Given the description of an element on the screen output the (x, y) to click on. 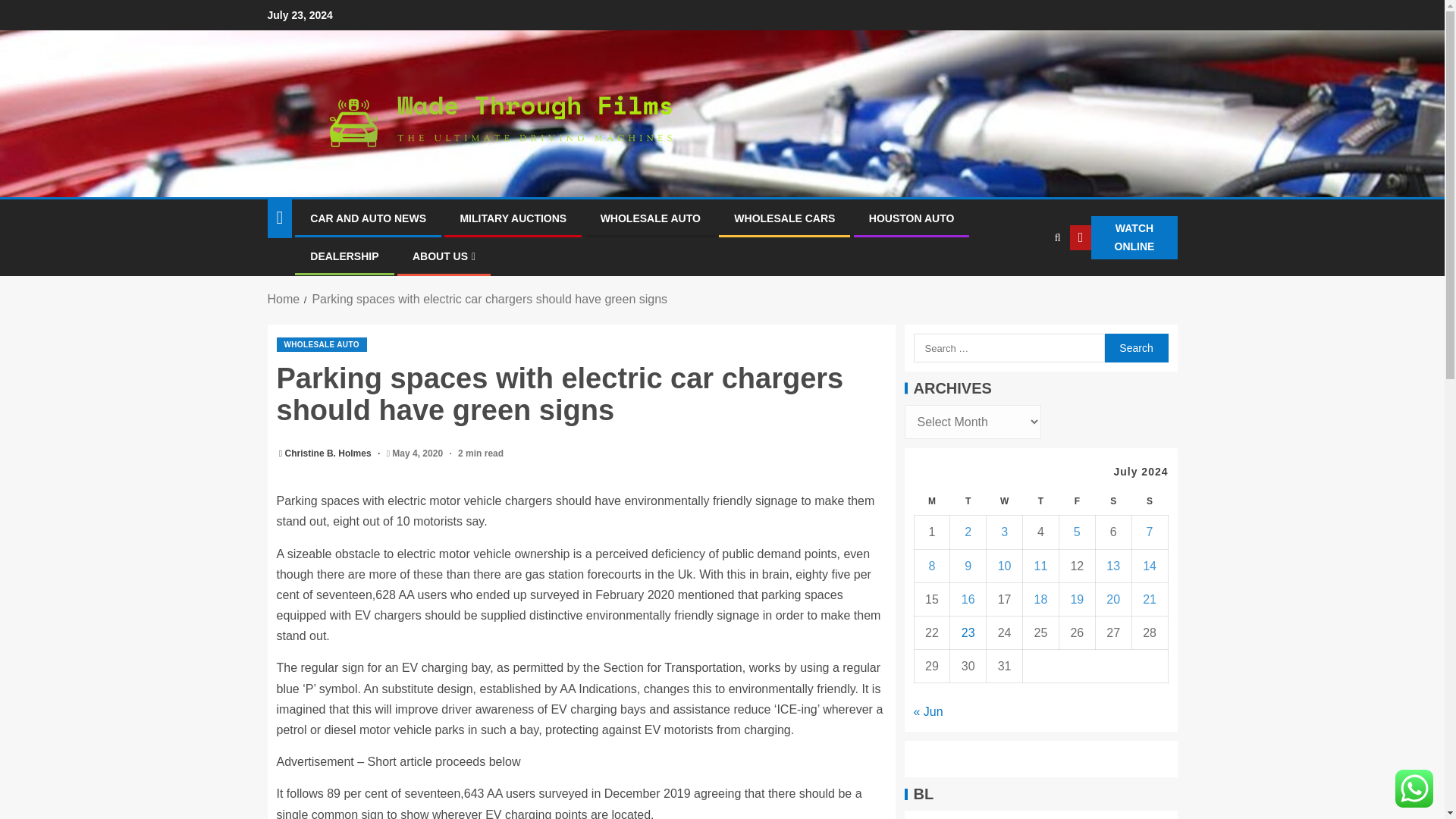
HOUSTON AUTO (912, 218)
Tuesday (968, 501)
Thursday (1041, 501)
Christine B. Holmes (329, 452)
Search (1135, 347)
Search (1135, 347)
DEALERSHIP (344, 256)
WHOLESALE AUTO (649, 218)
WHOLESALE CARS (783, 218)
Friday (1076, 501)
Search (1026, 284)
Home (282, 298)
Sunday (1149, 501)
Monday (932, 501)
Wednesday (1005, 501)
